Given the description of an element on the screen output the (x, y) to click on. 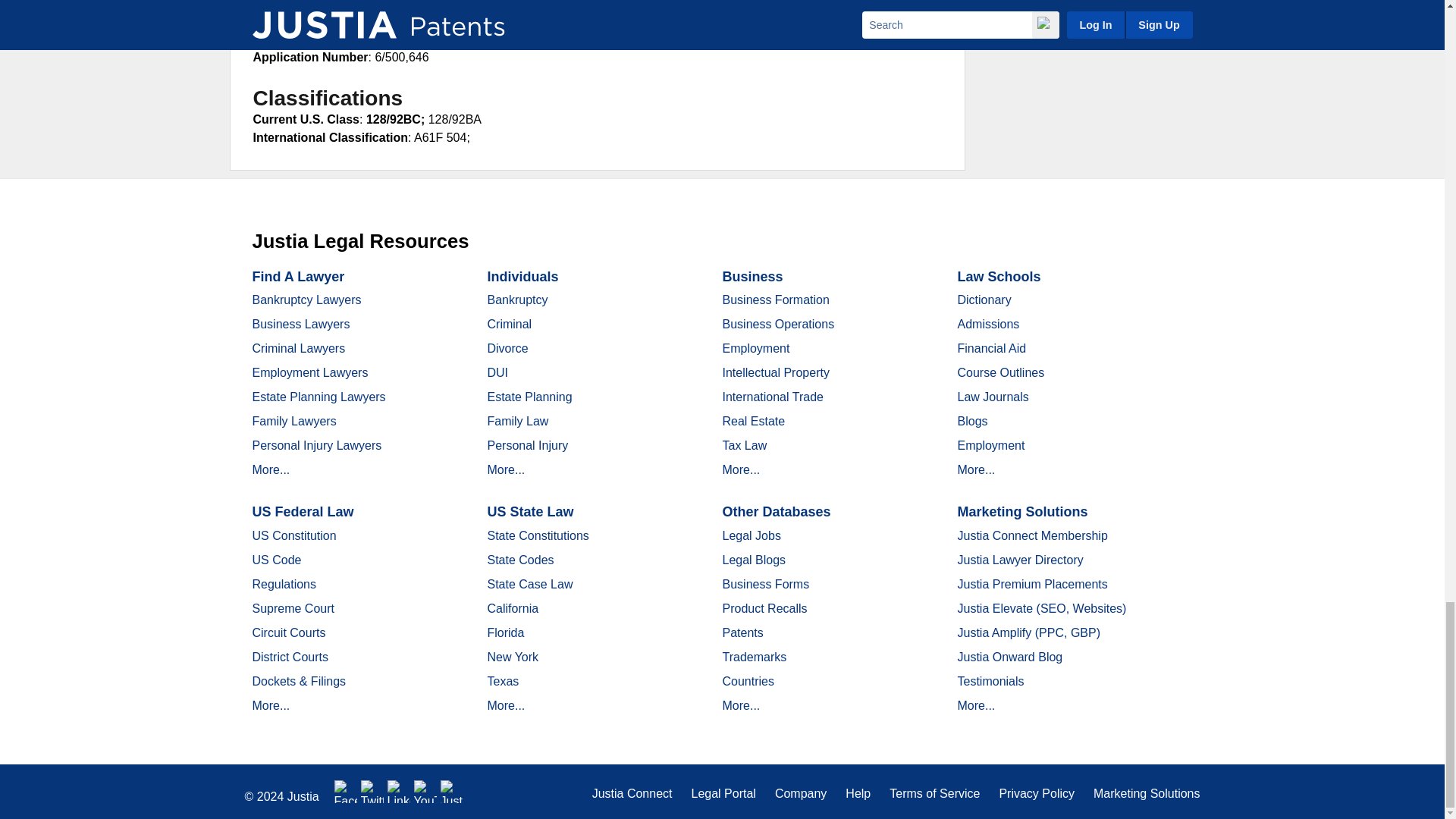
Facebook (345, 791)
LinkedIn (398, 791)
YouTube (424, 791)
Justia Lawyer Directory (452, 791)
Twitter (372, 791)
